Given the description of an element on the screen output the (x, y) to click on. 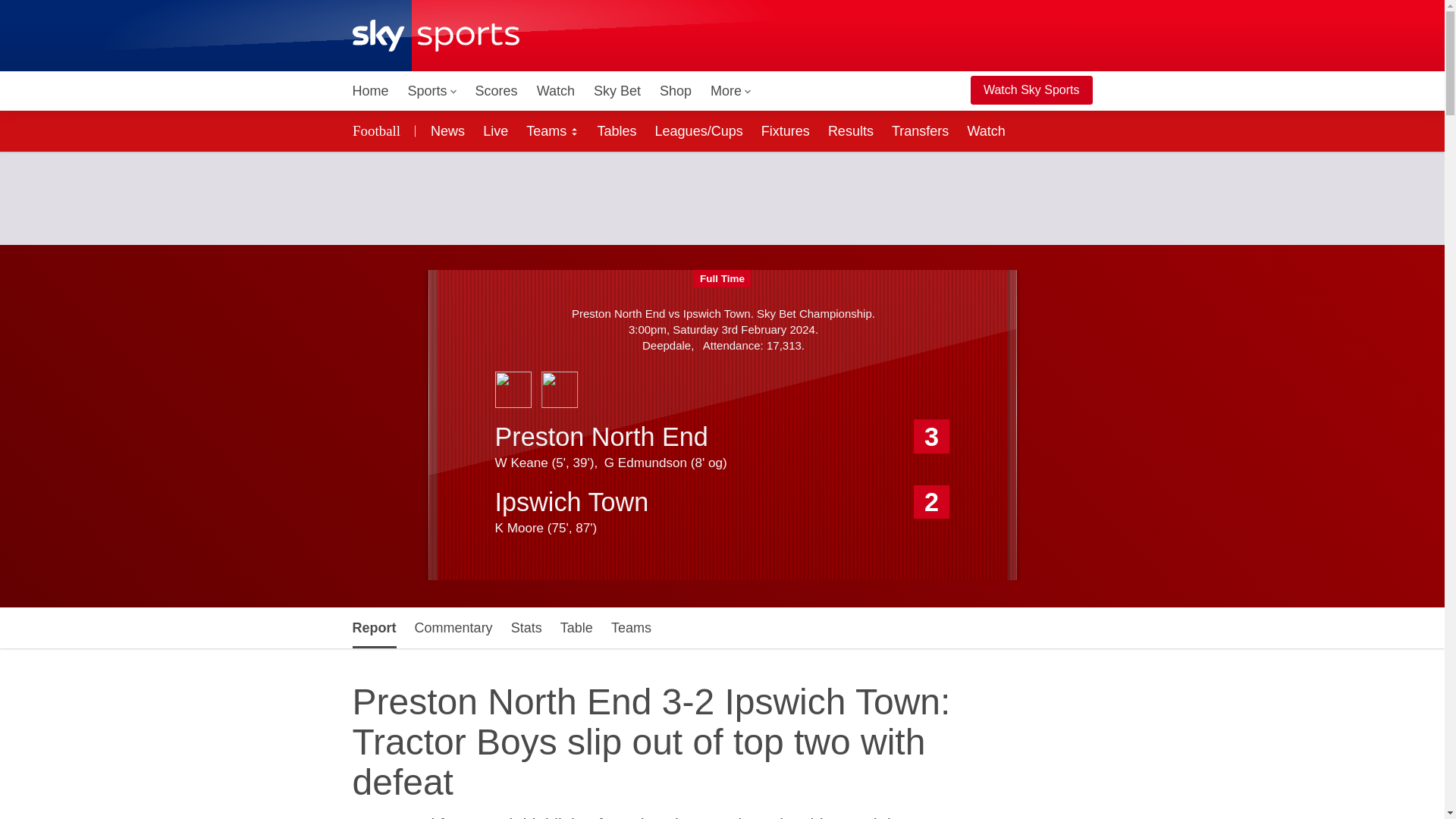
Scores (496, 91)
Shop (675, 91)
More (730, 91)
Teams (552, 130)
News (444, 130)
Football (378, 130)
Watch Sky Sports (1032, 90)
Live (495, 130)
Watch (555, 91)
Sky Bet (616, 91)
Home (369, 91)
Sports (432, 91)
